Given the description of an element on the screen output the (x, y) to click on. 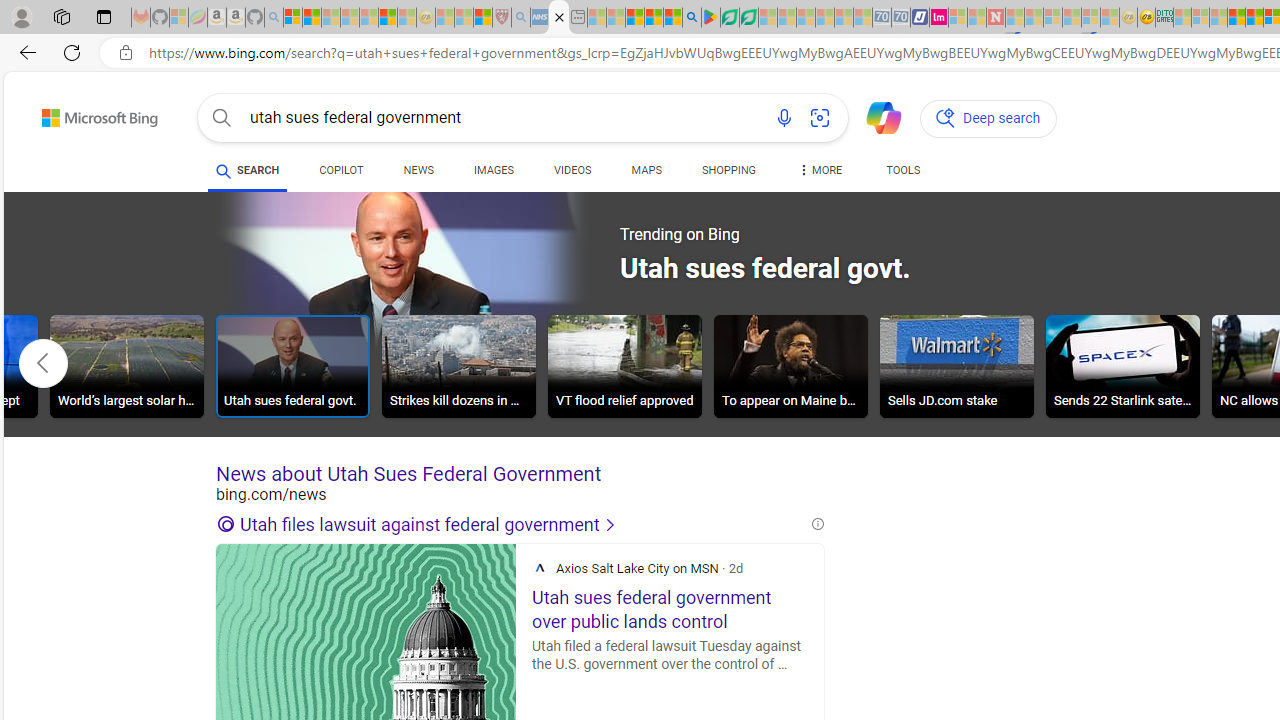
Sends 22 Starlink satellites (1122, 365)
MAPS (646, 173)
COPILOT (341, 170)
Sells JD.com stake (957, 365)
Sends 22 Starlink satellites (1122, 369)
Search using voice (783, 117)
